Given the description of an element on the screen output the (x, y) to click on. 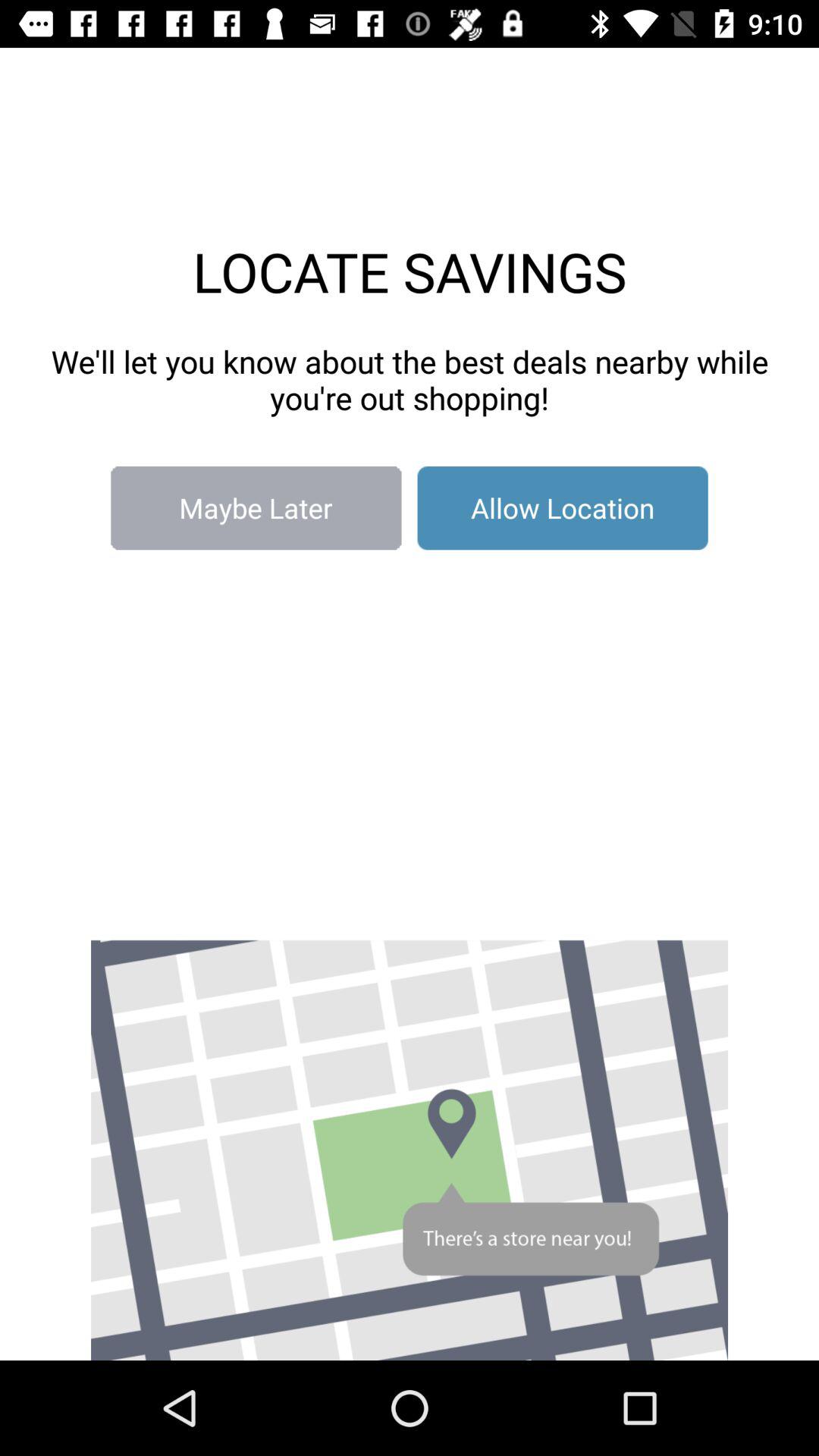
jump until the maybe later app (255, 507)
